Given the description of an element on the screen output the (x, y) to click on. 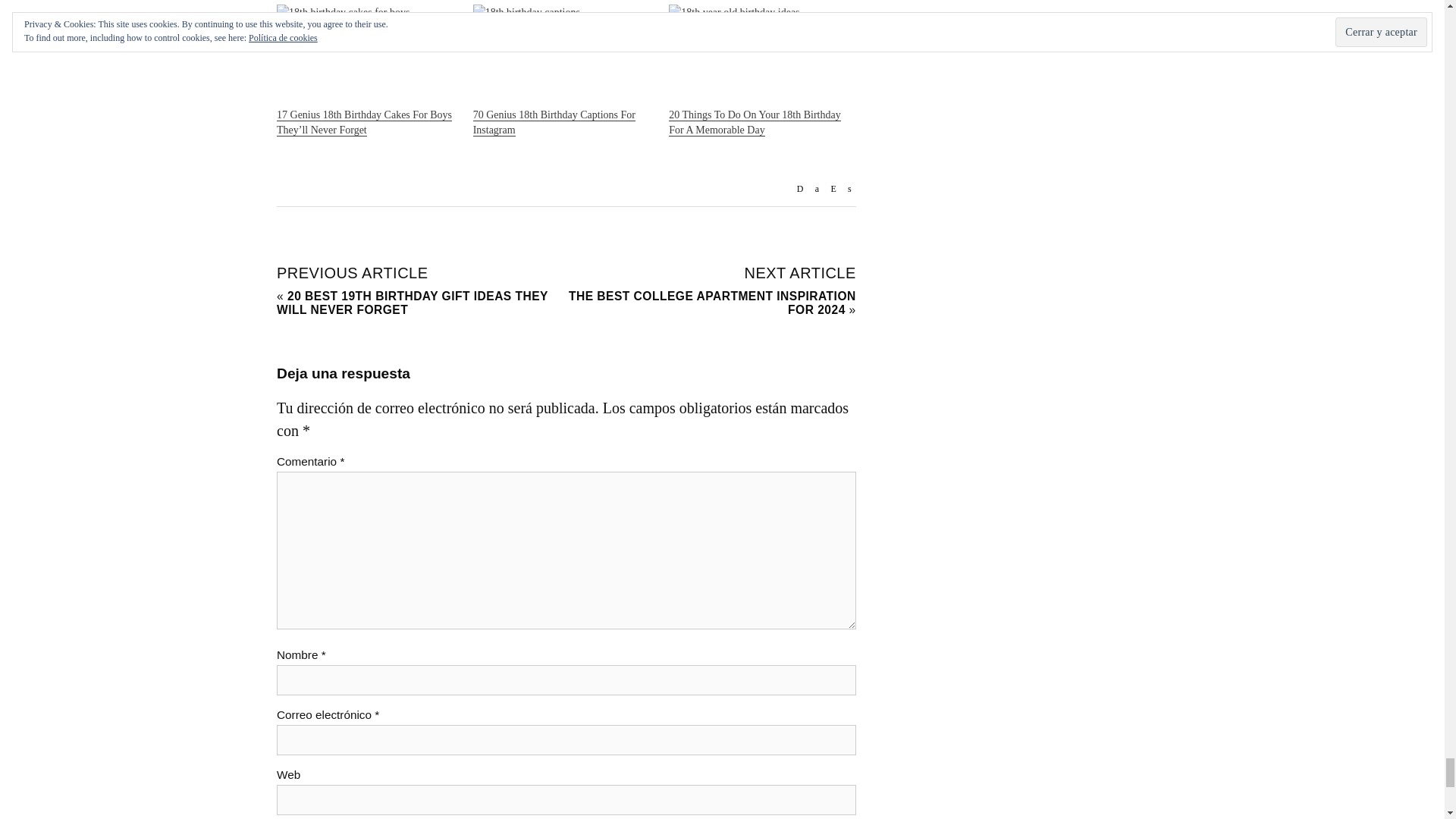
70 Genius 18th Birthday Captions For Instagram (553, 122)
20 Things To Do On Your 18th Birthday For A Memorable Day (754, 122)
20 Things To Do On Your 18th Birthday For A Memorable Day (759, 55)
70 Genius 18th Birthday Captions For Instagram (553, 122)
70 Genius 18th Birthday Captions For Instagram (563, 55)
20 Things To Do On Your 18th Birthday For A Memorable Day (754, 122)
